Given the description of an element on the screen output the (x, y) to click on. 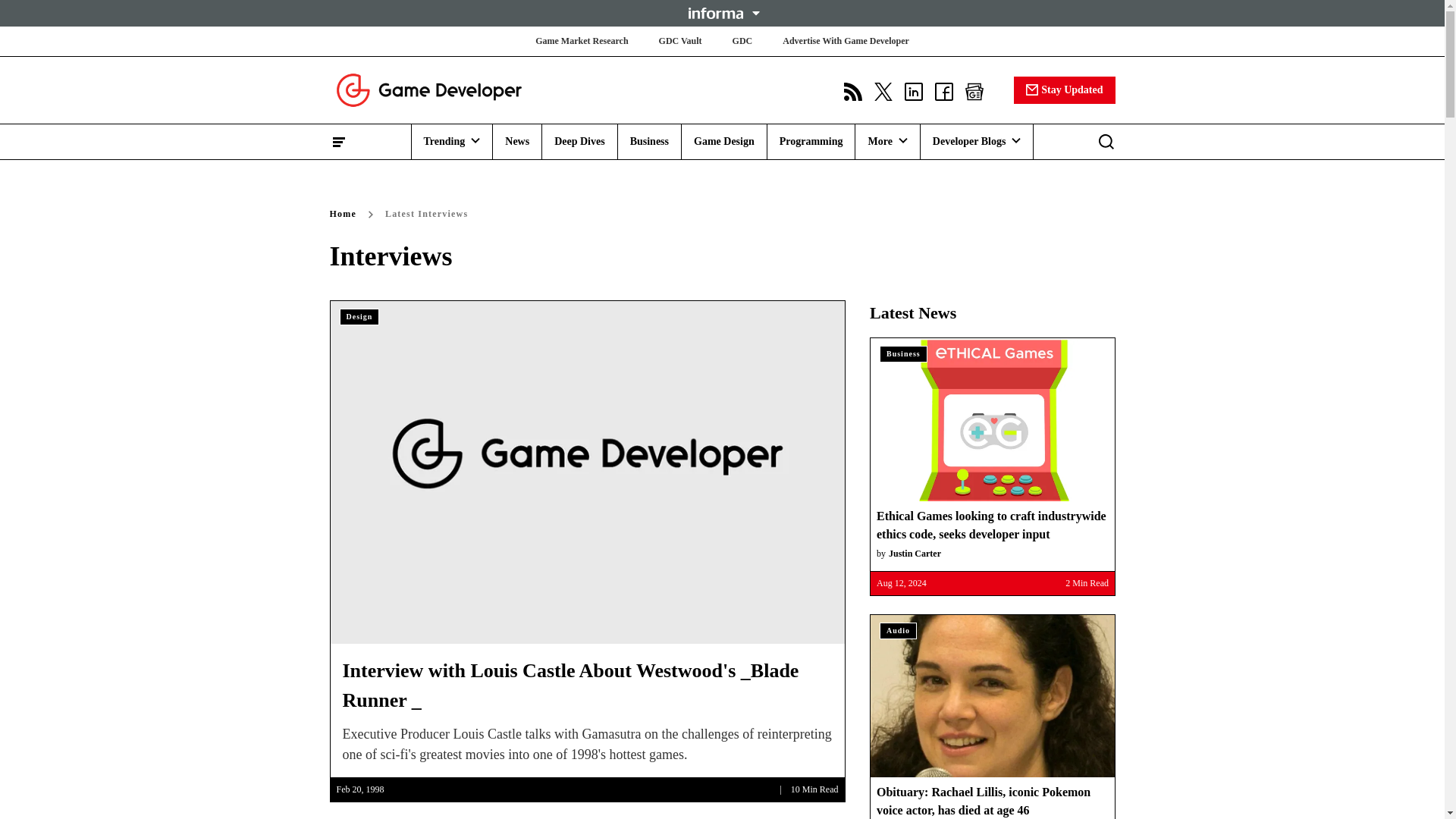
GDC Vault (680, 41)
Deep Dives (579, 141)
News (517, 141)
Programming (810, 141)
Advertise With Game Developer (845, 41)
Game Market Research (581, 41)
Stay Updated (1064, 89)
Business (649, 141)
Game Design (724, 141)
GDC (742, 41)
